Given the description of an element on the screen output the (x, y) to click on. 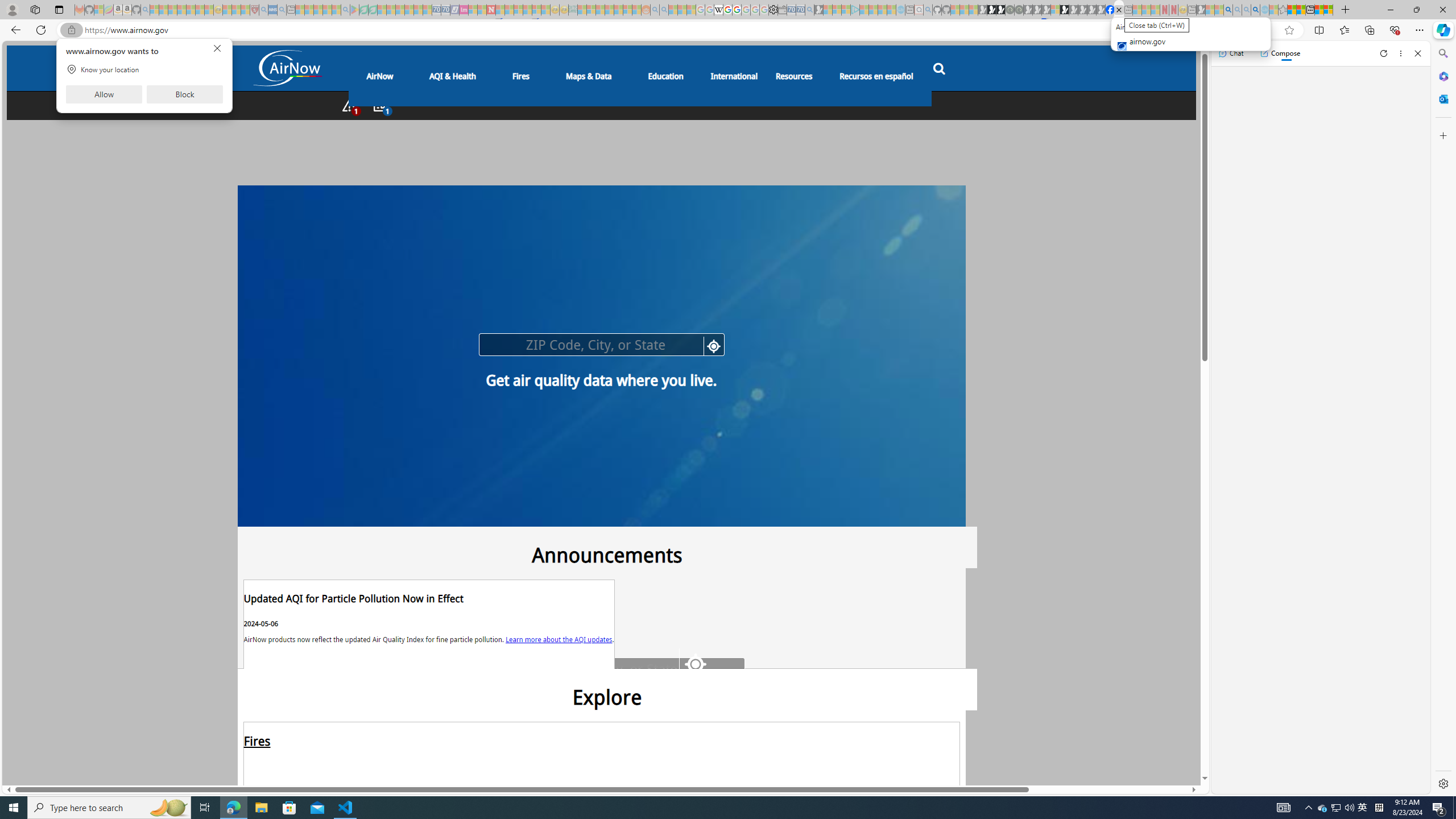
PARTNERS (334, 554)
Allow (103, 94)
